Given the description of an element on the screen output the (x, y) to click on. 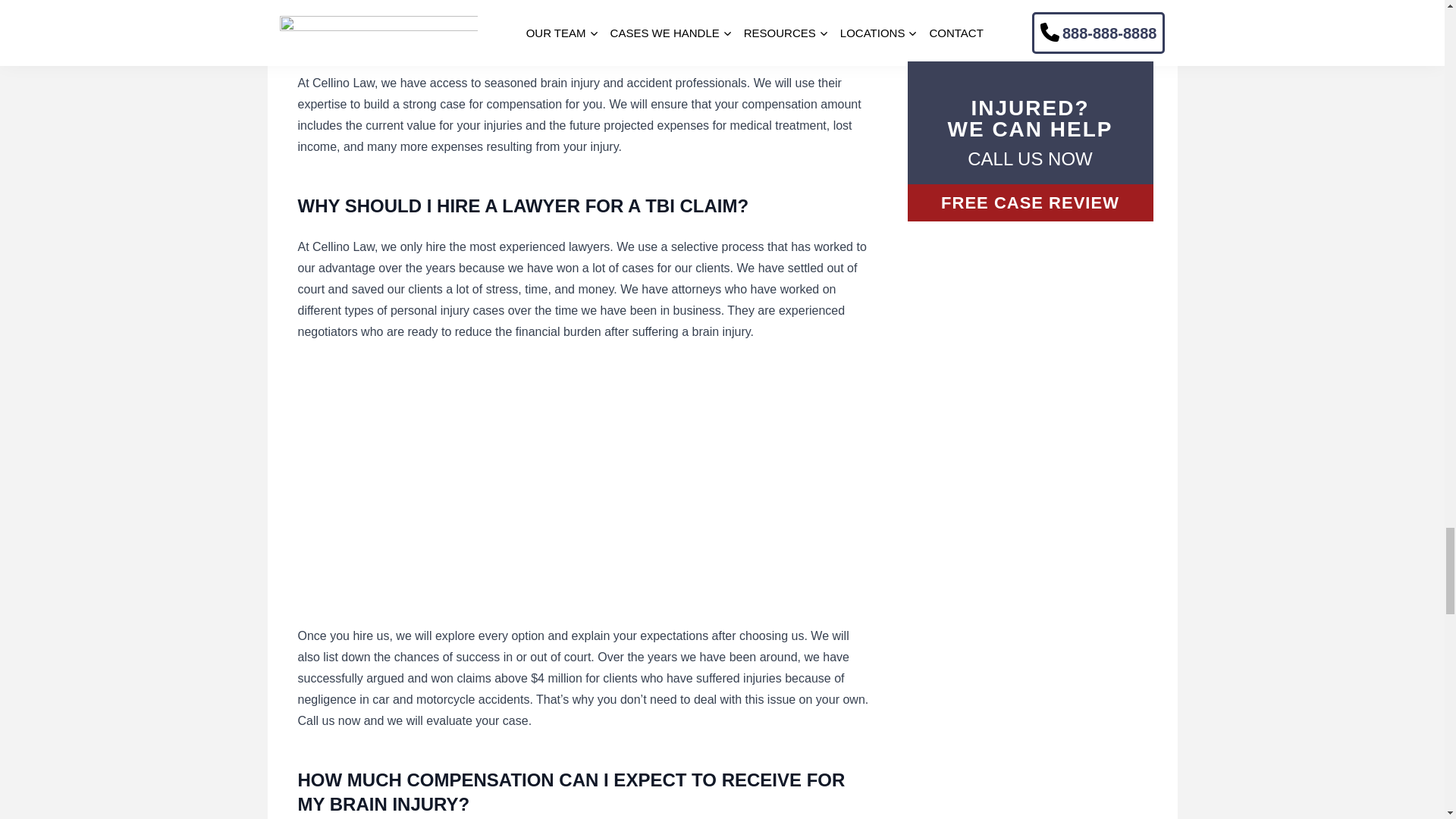
Bronx Traumatic Brain Injury Lawyer (487, 483)
